Given the description of an element on the screen output the (x, y) to click on. 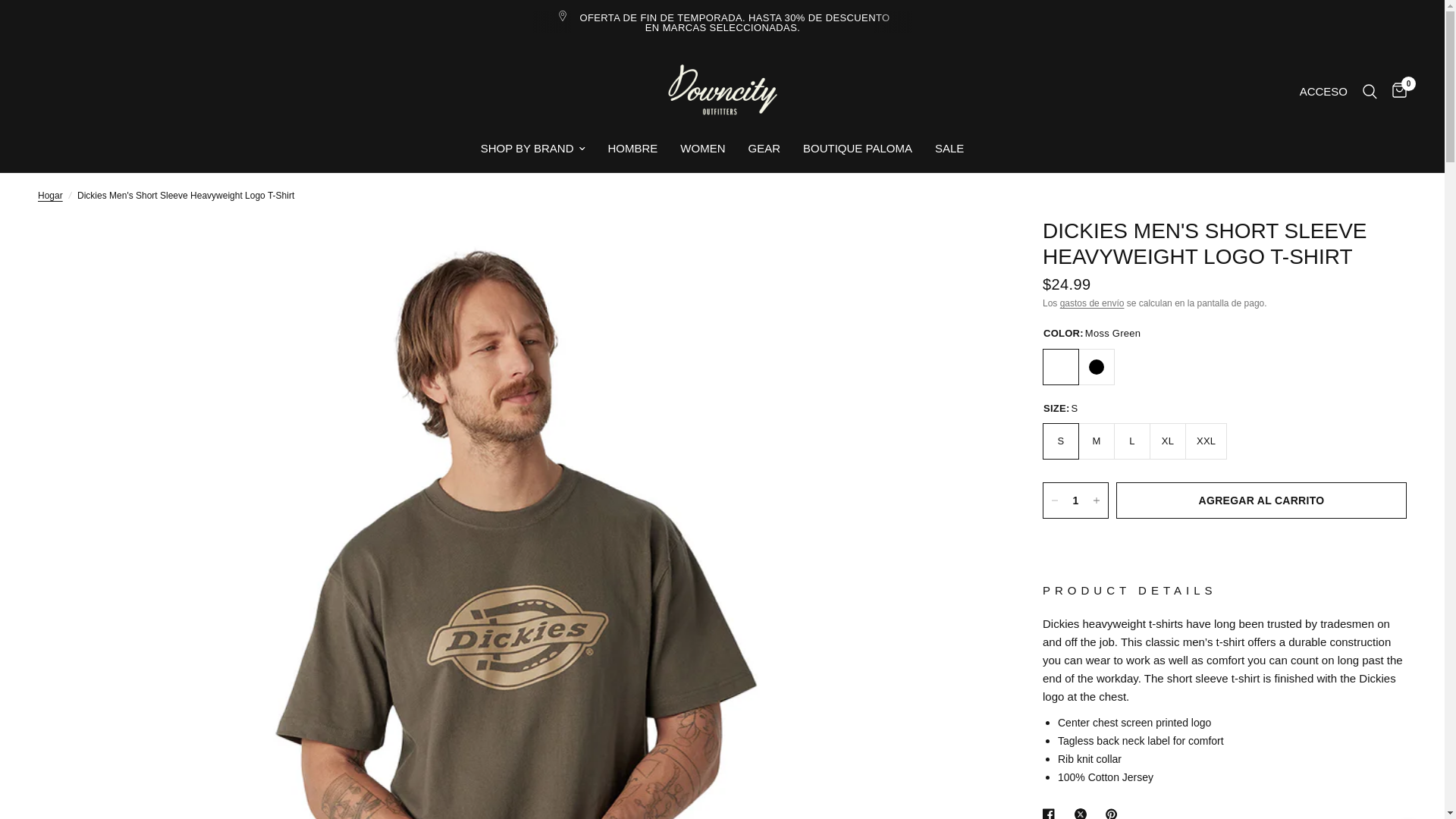
SHOP BY BRAND (532, 148)
